Given the description of an element on the screen output the (x, y) to click on. 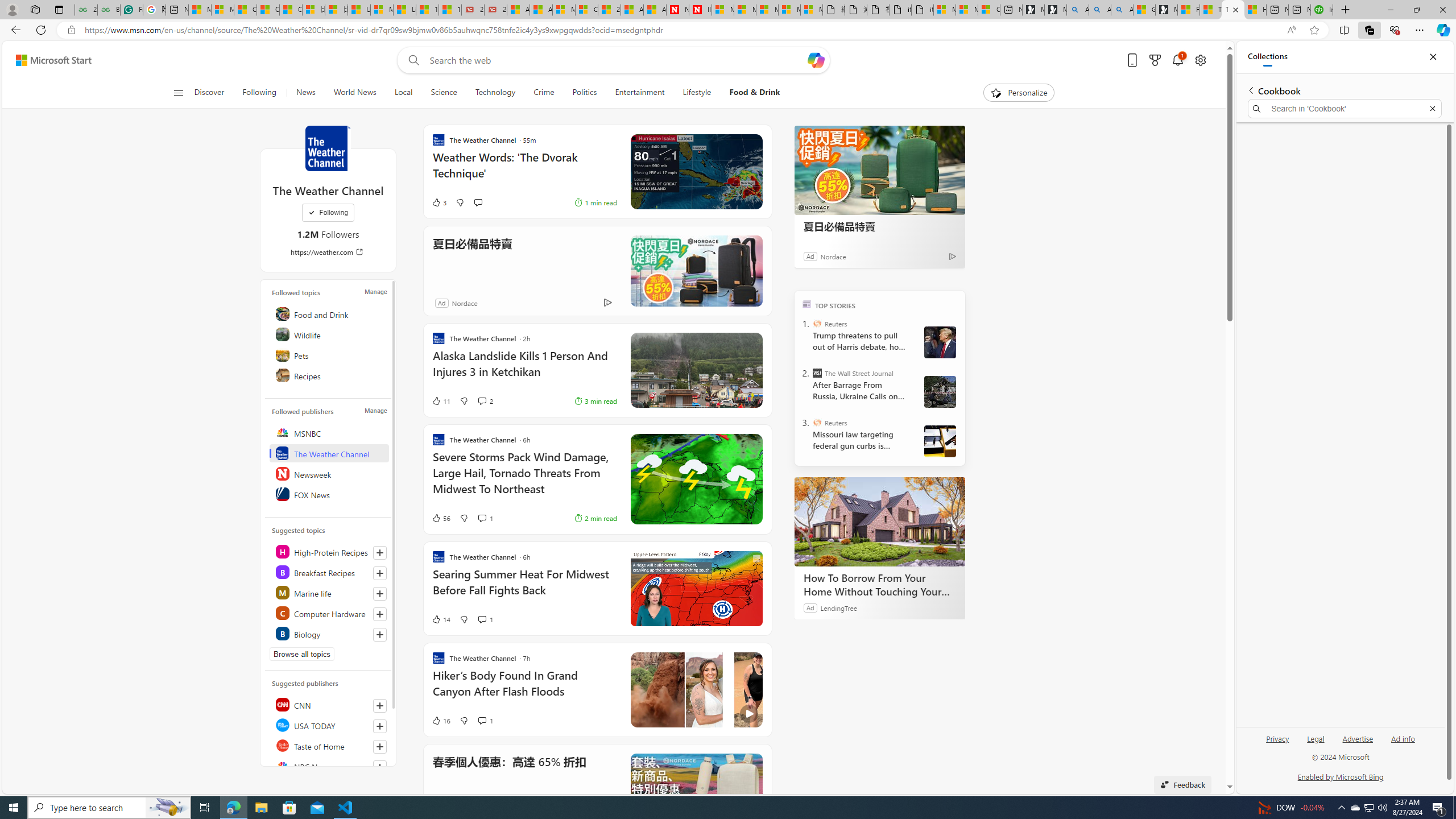
View comments 2 Comment (485, 400)
3 Like (438, 202)
Follow this source (379, 767)
NBC News (328, 765)
